Given the description of an element on the screen output the (x, y) to click on. 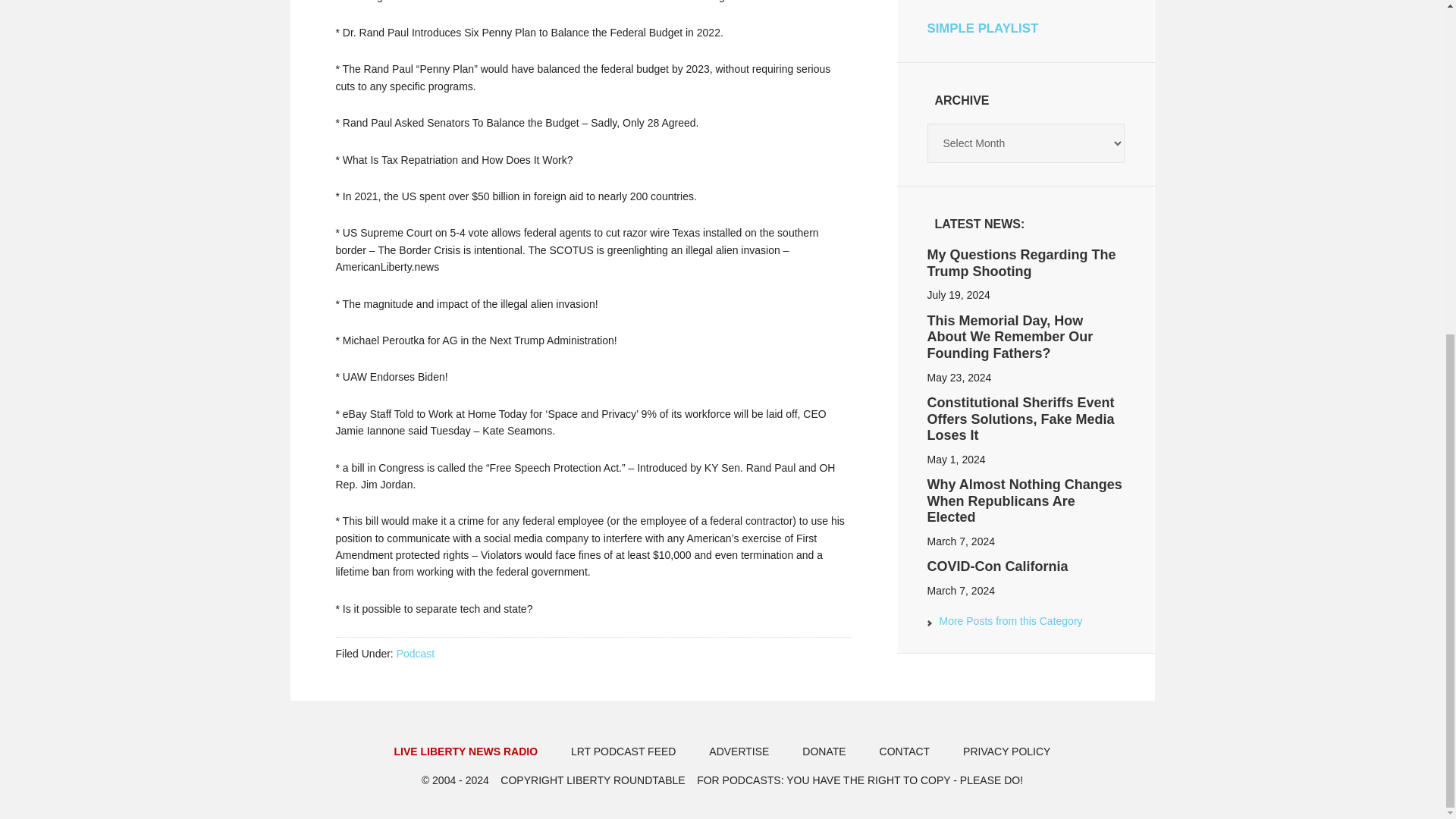
SIMPLE PLAYLIST (982, 28)
LRT PODCAST FEED (623, 751)
Podcast (415, 653)
More Posts from this Category (1003, 623)
COVID-Con California (996, 566)
1News (1003, 623)
Why Almost Nothing Changes When Republicans Are Elected (1023, 500)
LIVE LIBERTY NEWS RADIO (465, 751)
